Given the description of an element on the screen output the (x, y) to click on. 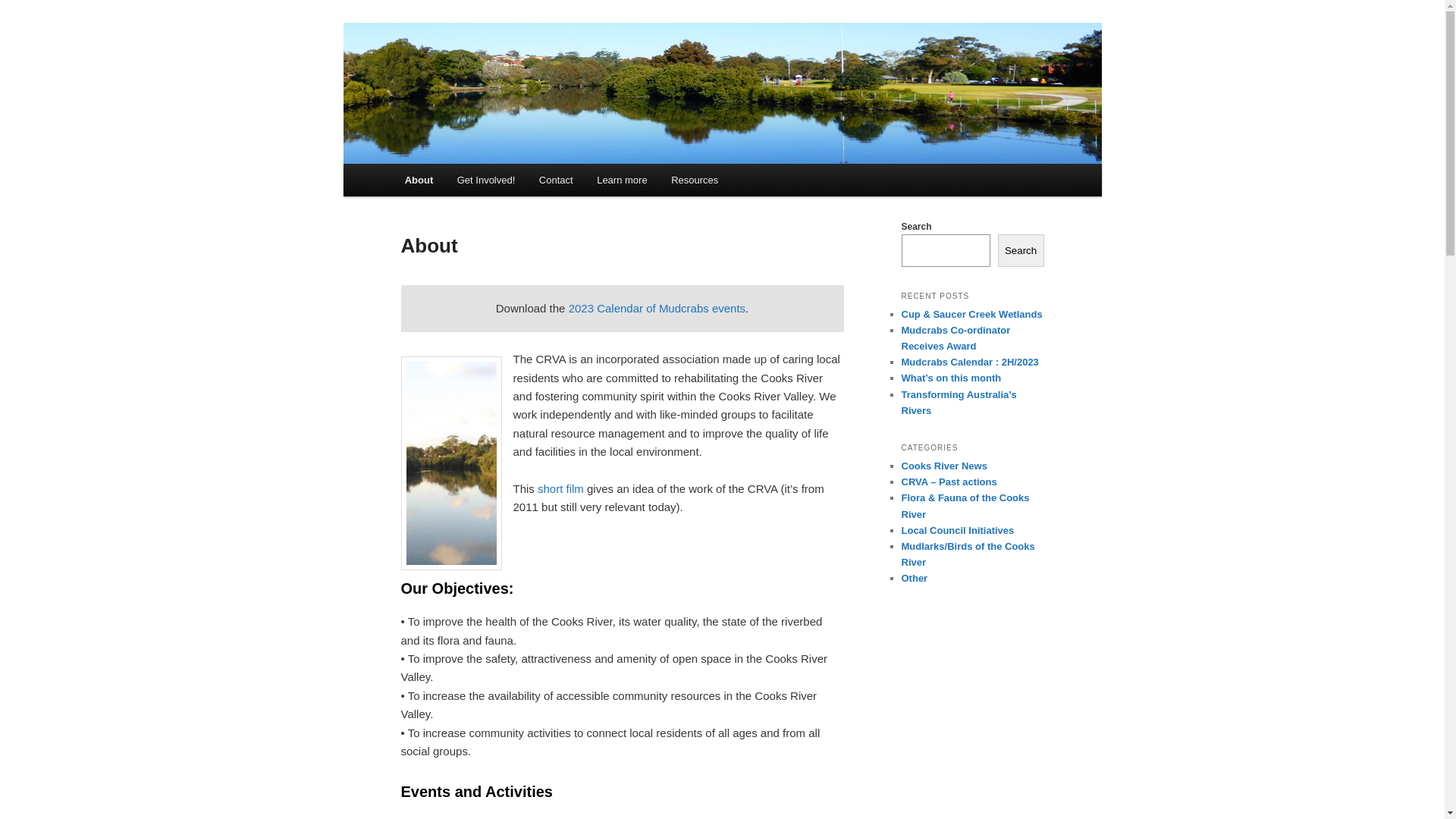
Cooks River News Element type: text (943, 465)
Flora & Fauna of the Cooks River Element type: text (964, 505)
Mudcrabs Calendar : 2H/2023 Element type: text (969, 361)
Cooks River Valley Association Element type: text (569, 77)
Skip to primary content Element type: text (22, 22)
Other Element type: text (913, 577)
About Element type: text (418, 179)
Resources Element type: text (694, 179)
Mudlarks/Birds of the Cooks River Element type: text (967, 553)
Contact Element type: text (555, 179)
2023 Calendar of Mudcrabs events Element type: text (656, 307)
short film Element type: text (560, 488)
Cup & Saucer Creek Wetlands Element type: text (970, 314)
Learn more Element type: text (621, 179)
Search Element type: text (1020, 250)
Get Involved! Element type: text (486, 179)
Local Council Initiatives Element type: text (956, 530)
Mudcrabs Co-ordinator Receives Award Element type: text (955, 337)
